Given the description of an element on the screen output the (x, y) to click on. 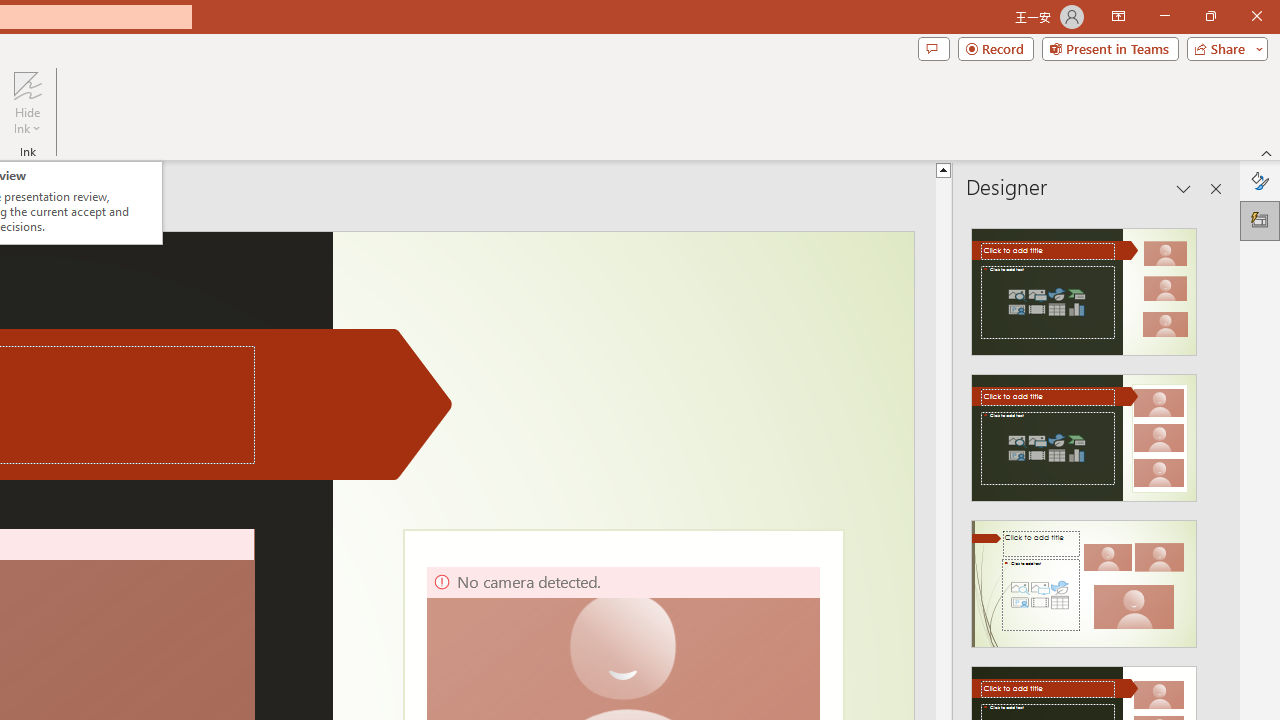
Recommended Design: Design Idea (1083, 286)
Format Background (1260, 180)
